Given the description of an element on the screen output the (x, y) to click on. 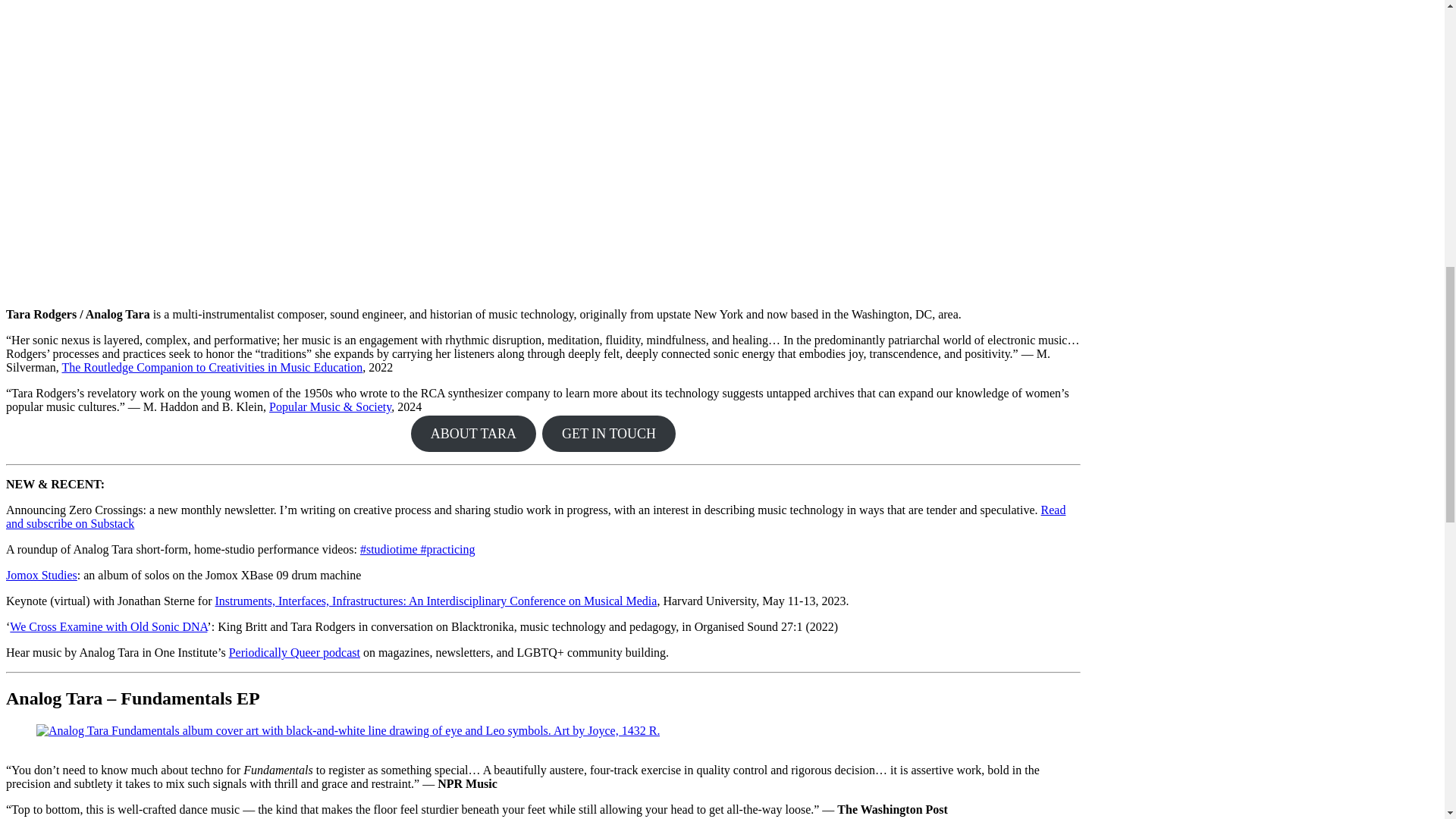
Periodically Queer podcast (293, 652)
We Cross Examine with Old Sonic DNA (108, 626)
GET IN TOUCH (608, 433)
Jomox Studies (41, 574)
The Routledge Companion to Creativities in Music Education (211, 367)
ABOUT TARA (472, 433)
Read and subscribe on Substack (535, 516)
